Given the description of an element on the screen output the (x, y) to click on. 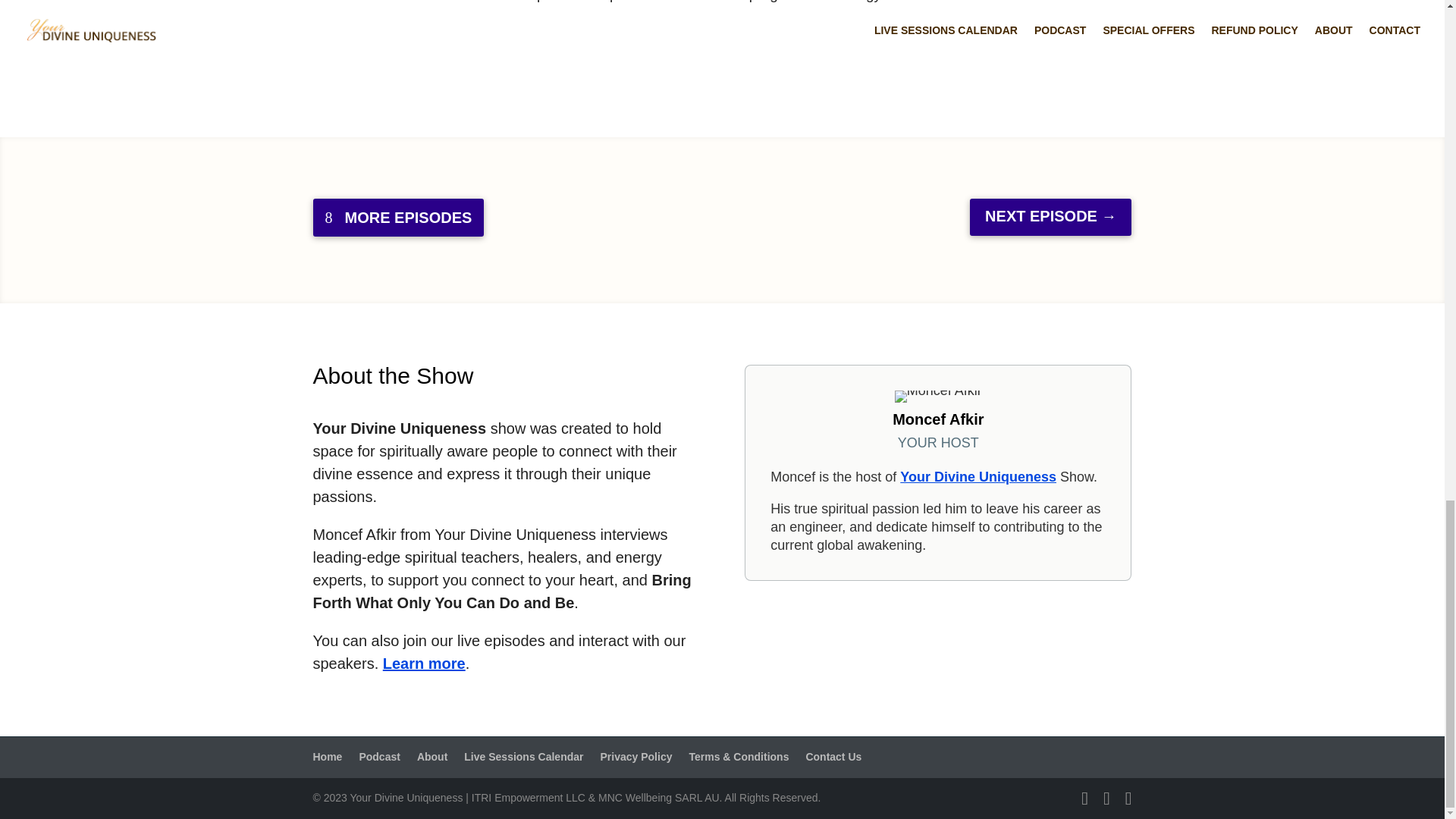
Contact Us (833, 756)
MORE EPISODES (398, 217)
Live Sessions Calendar (523, 756)
Privacy Policy (635, 756)
Home (327, 756)
About (431, 756)
Podcast (378, 756)
Learn more (423, 663)
Your Divine Uniqueness (978, 476)
